Given the description of an element on the screen output the (x, y) to click on. 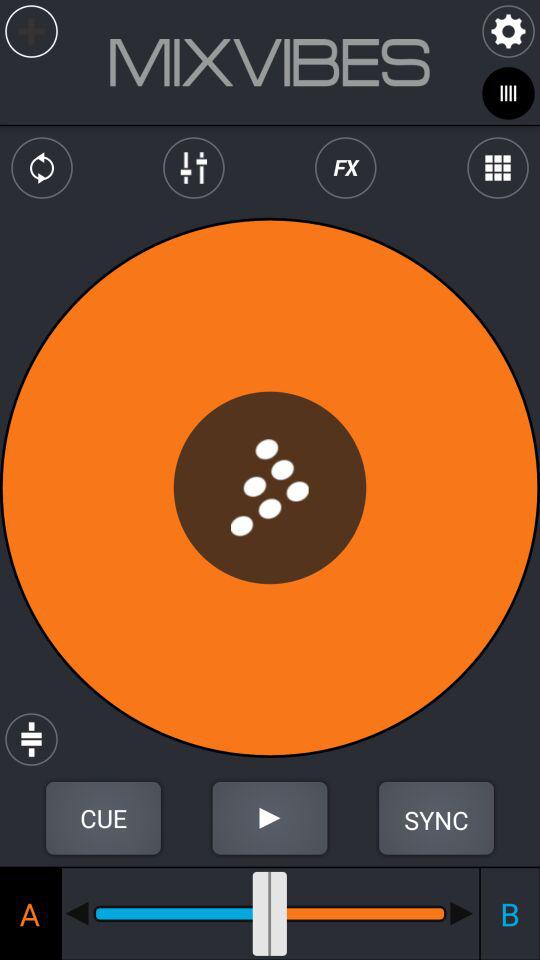
toggle repeat option (41, 167)
